Given the description of an element on the screen output the (x, y) to click on. 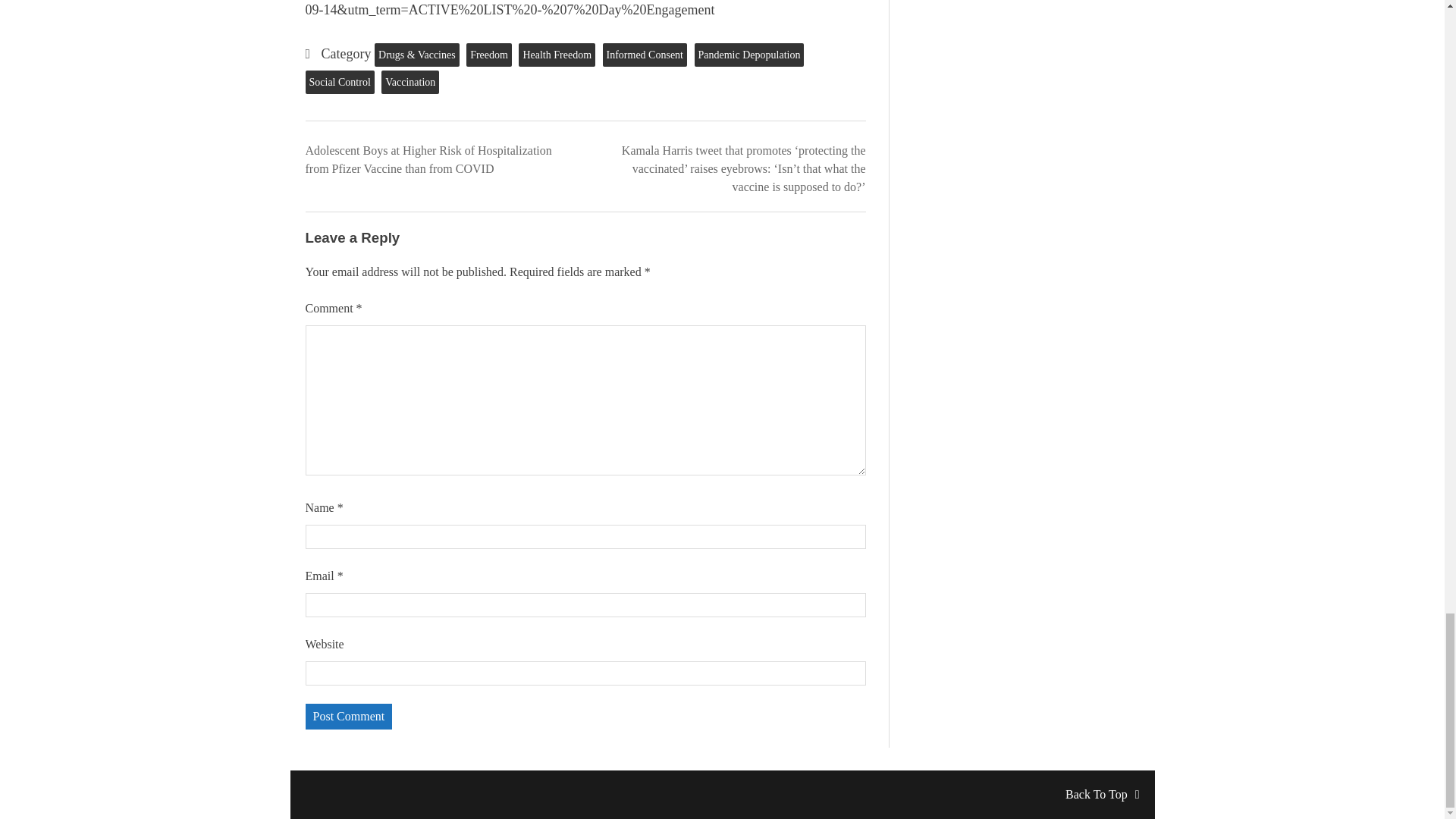
Back to top (1101, 793)
Post Comment (347, 716)
